Given the description of an element on the screen output the (x, y) to click on. 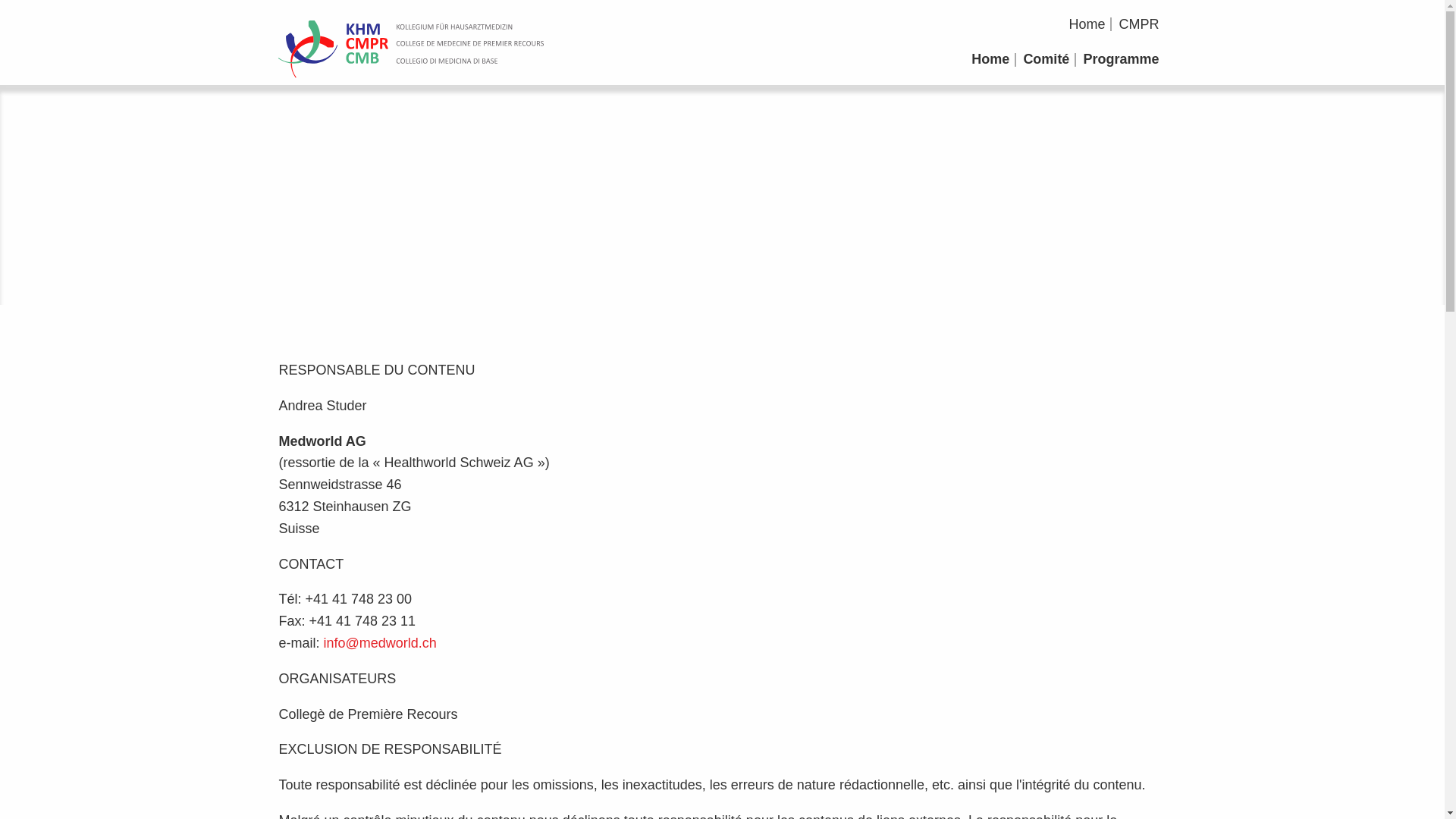
CMPR Element type: text (1138, 23)
Programme Element type: text (1120, 59)
Home Element type: text (1086, 23)
info@medworld.ch Element type: text (379, 642)
Home Element type: text (990, 59)
